Given the description of an element on the screen output the (x, y) to click on. 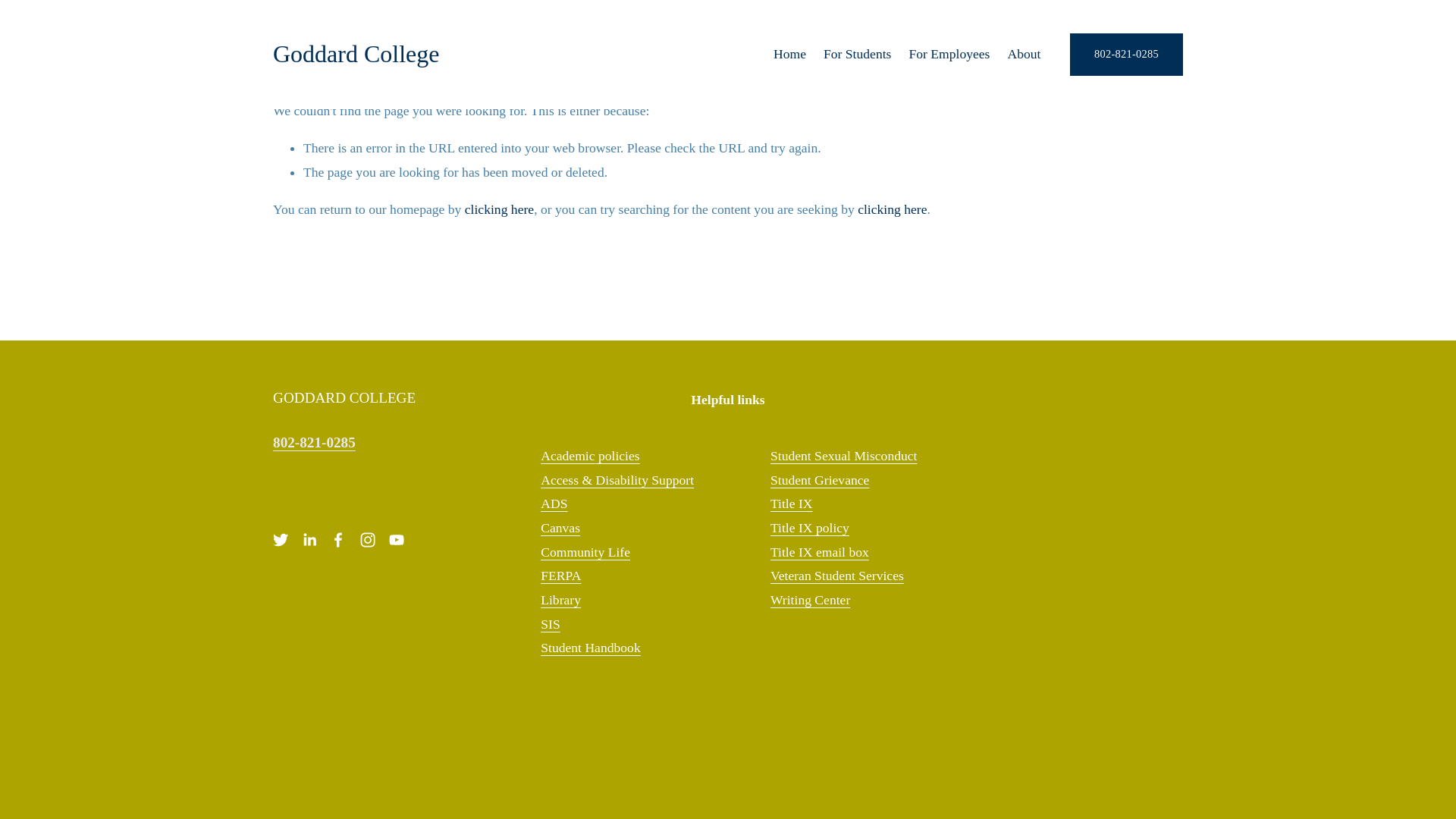
ADS (553, 504)
Title IX (791, 504)
Home (789, 53)
Library (560, 600)
Academic policies (589, 456)
802-821-0285 (1126, 54)
Canvas (559, 528)
Community Life (585, 552)
clicking here (499, 209)
For Students (857, 53)
clicking here (891, 209)
FERPA (560, 576)
Student Grievance (819, 480)
Student Sexual Misconduct (843, 456)
Student Handbook (590, 648)
